Given the description of an element on the screen output the (x, y) to click on. 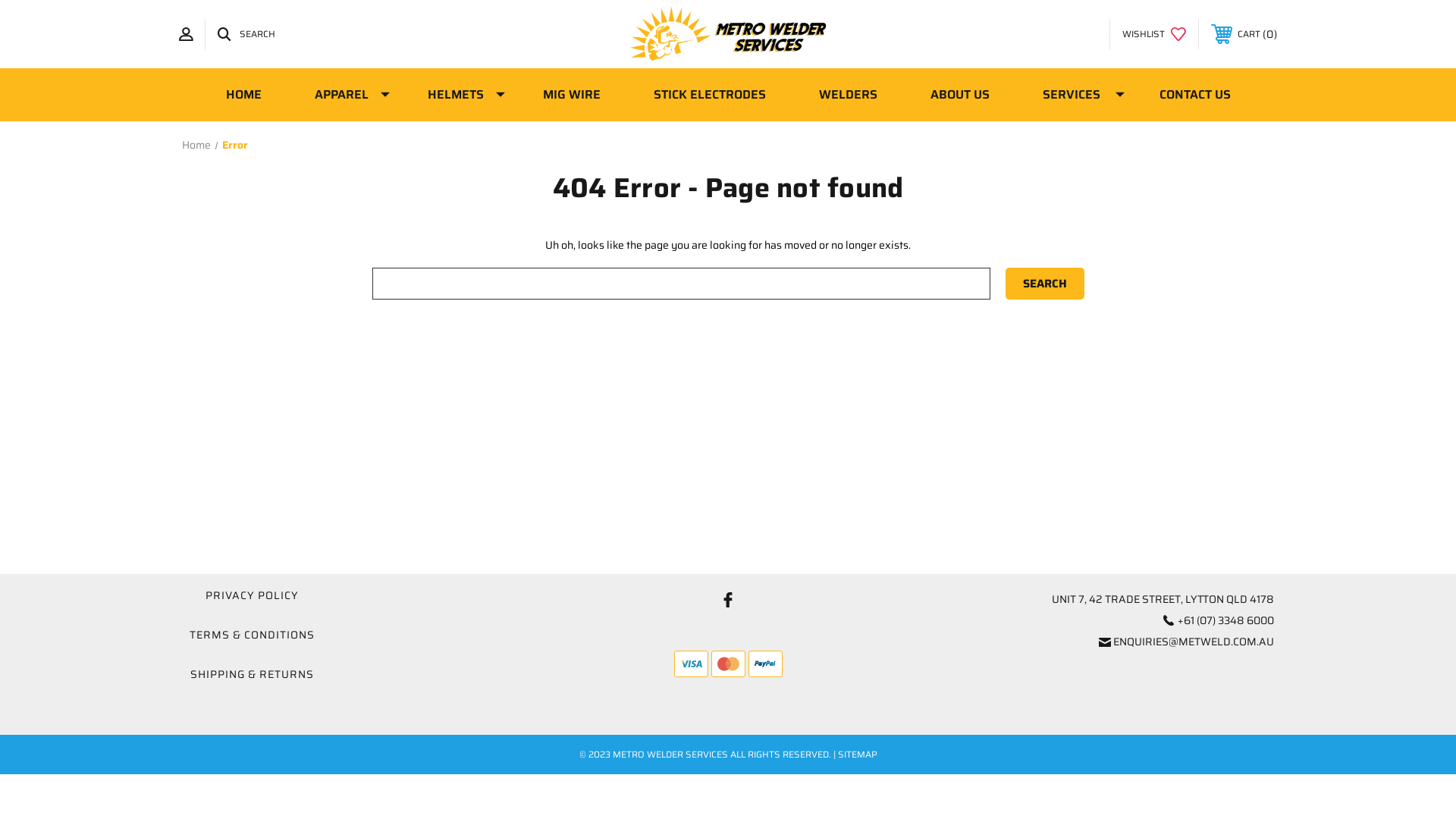
ABOUT US Element type: text (959, 94)
APPAREL Element type: text (344, 94)
ENQUIRIES@METWELD.COM.AU Element type: text (1193, 641)
SEARCH Element type: text (246, 34)
SERVICES Element type: text (1074, 94)
Home Element type: text (196, 144)
CART 0 Element type: text (1243, 33)
MIG WIRE Element type: text (570, 94)
Metro Welder Services Element type: hover (727, 33)
WELDERS Element type: text (847, 94)
HELMETS Element type: text (457, 94)
Error Element type: text (234, 144)
+61 (07) 3348 6000 Element type: text (1225, 619)
Search Element type: text (1044, 283)
HOME Element type: text (242, 94)
TERMS & CONDITIONS Element type: text (251, 634)
CONTACT US Element type: text (1194, 94)
SITEMAP Element type: text (856, 753)
SHIPPING & RETURNS Element type: text (251, 673)
STICK ELECTRODES Element type: text (708, 94)
WISHLIST Element type: text (1154, 34)
PRIVACY POLICY Element type: text (251, 594)
